Given the description of an element on the screen output the (x, y) to click on. 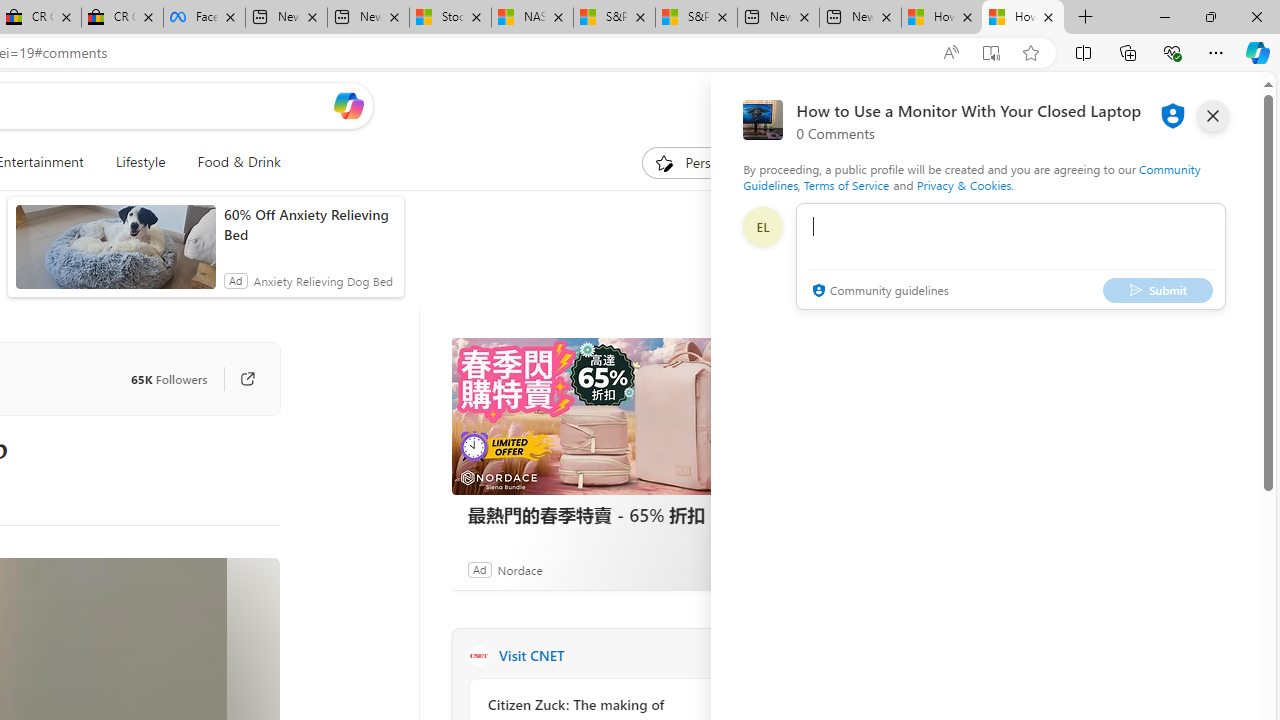
Go to publisher's site (237, 378)
Anxiety Relieving Dog Bed (322, 280)
Open settings (1216, 105)
anim-content (115, 255)
Terms of Service (846, 184)
